Given the description of an element on the screen output the (x, y) to click on. 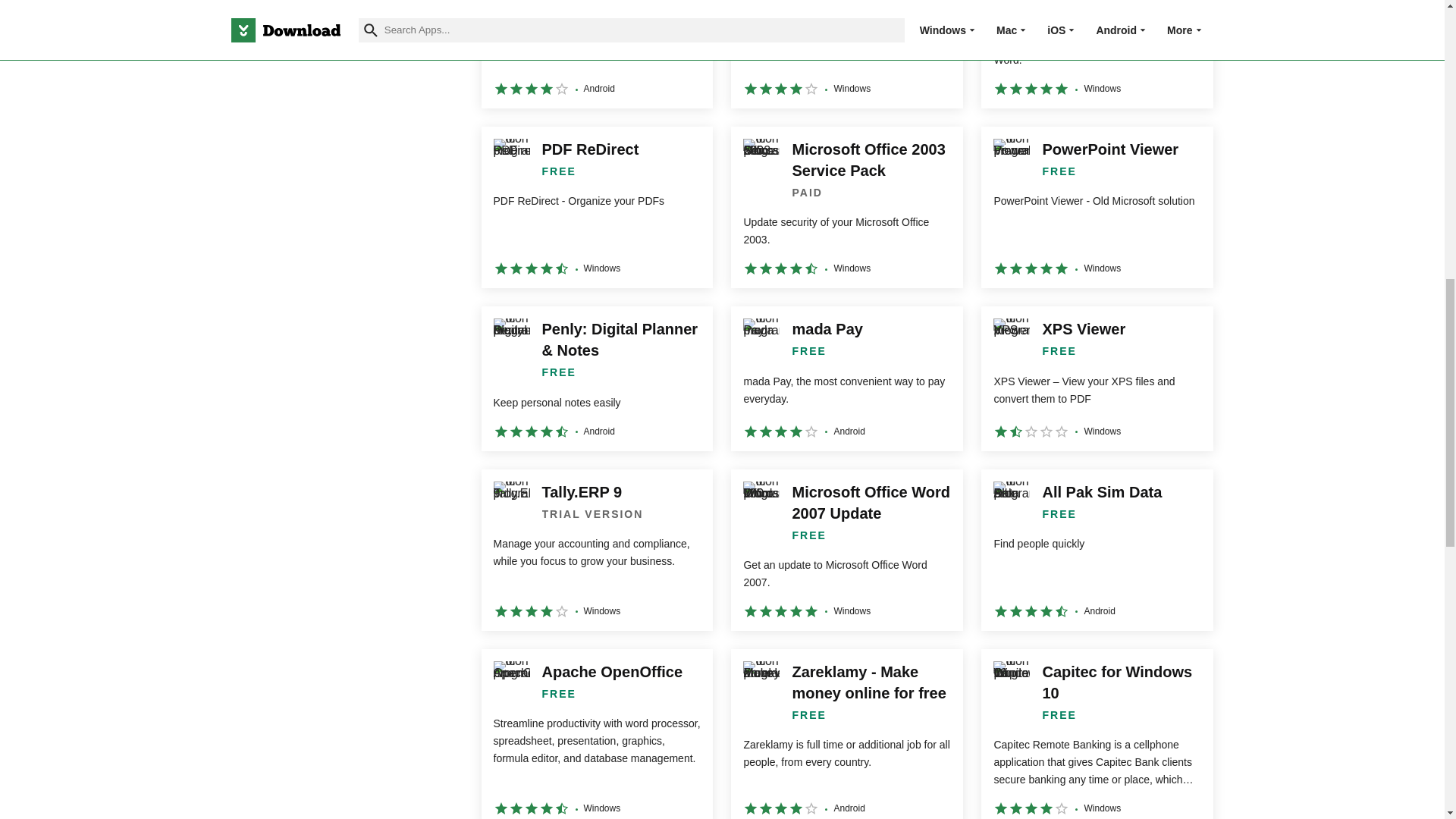
Apache OpenOffice (596, 734)
Microsoft Excel 2013 (846, 54)
Tally.ERP 9 (596, 549)
All Pak Sim Data (1096, 549)
Microsoft Office 2003 Service Pack (846, 207)
Zelle (596, 54)
Free Barcode Generator (1096, 54)
PDF ReDirect (596, 207)
XPS Viewer (1096, 378)
mada Pay (846, 378)
Zareklamy - Make money online for free (846, 734)
Microsoft Office Word 2007 Update (846, 549)
PowerPoint Viewer (1096, 207)
